Given the description of an element on the screen output the (x, y) to click on. 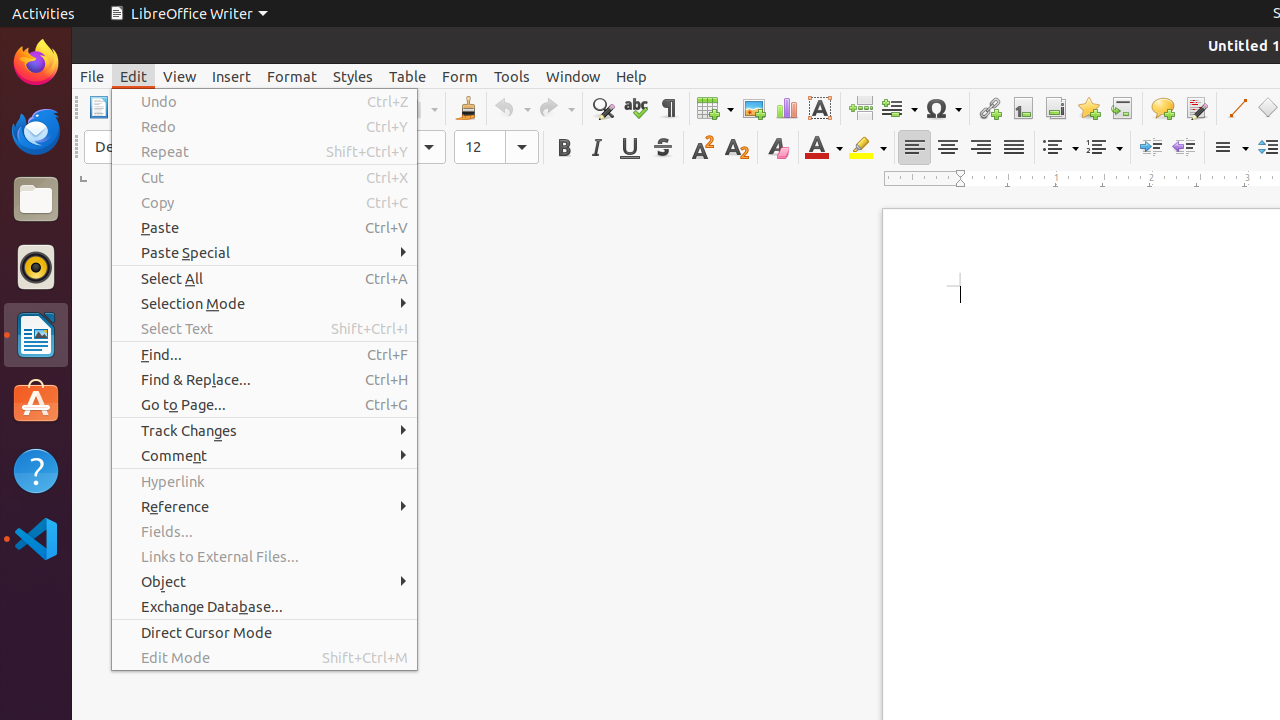
Styles Element type: menu (353, 76)
Strikethrough Element type: toggle-button (662, 147)
Bullets Element type: push-button (1060, 147)
Go to Page... Element type: menu-item (264, 404)
Page Break Element type: push-button (860, 108)
